Given the description of an element on the screen output the (x, y) to click on. 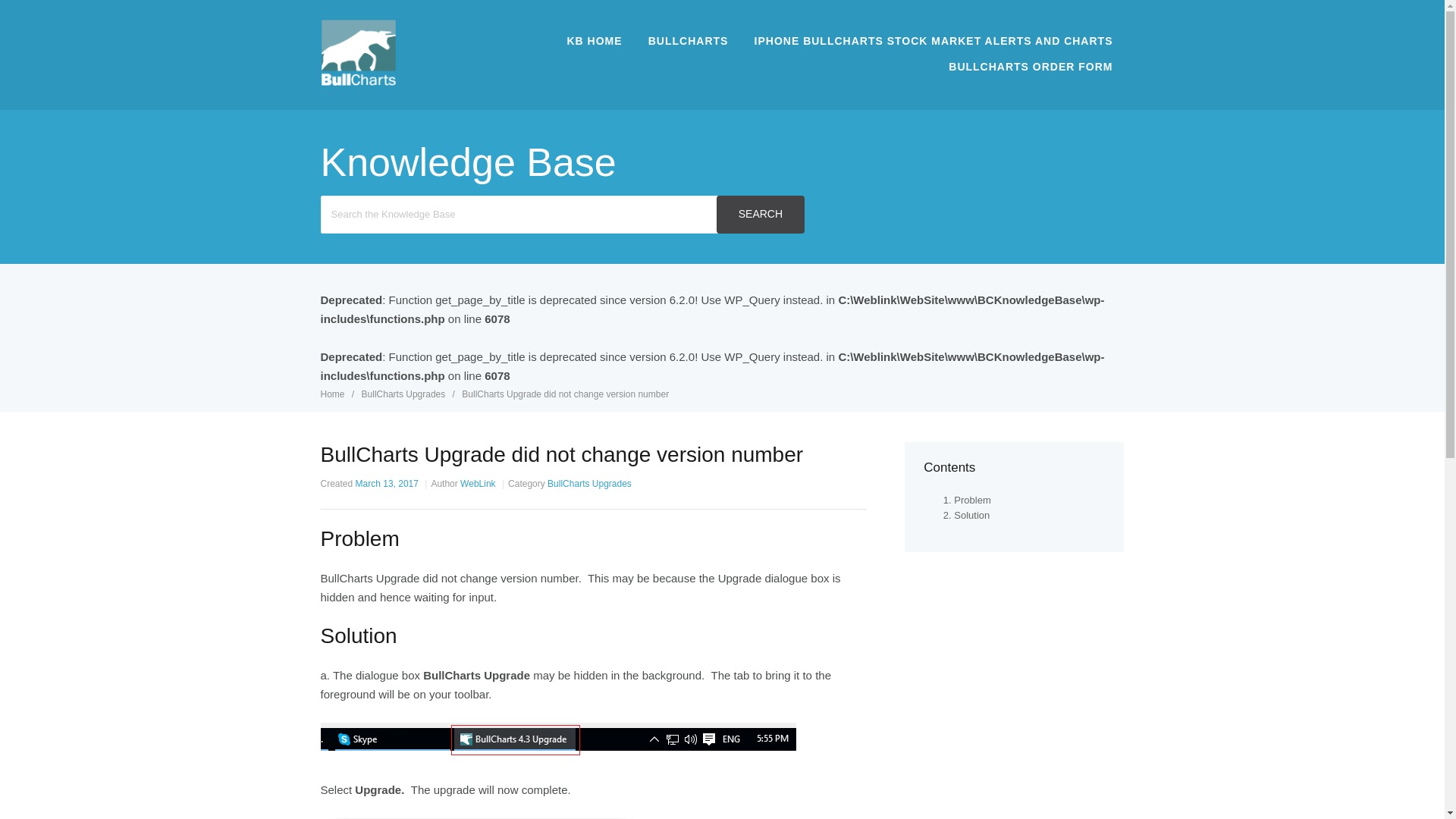
WebLink (477, 483)
WebLink (477, 483)
BULLCHARTS ORDER FORM (1030, 66)
IPHONE BULLCHARTS STOCK MARKET ALERTS AND CHARTS (933, 40)
SEARCH (759, 214)
BULLCHARTS (688, 40)
BullCharts Upgrade did not change version number (564, 394)
March 13, 2017 (387, 483)
Home (333, 394)
BullCharts Upgrades (589, 483)
Problem (971, 500)
KB HOME (593, 40)
Home (333, 394)
BullCharts Upgrade did not change version number (564, 394)
BullCharts Upgrades (404, 394)
